Given the description of an element on the screen output the (x, y) to click on. 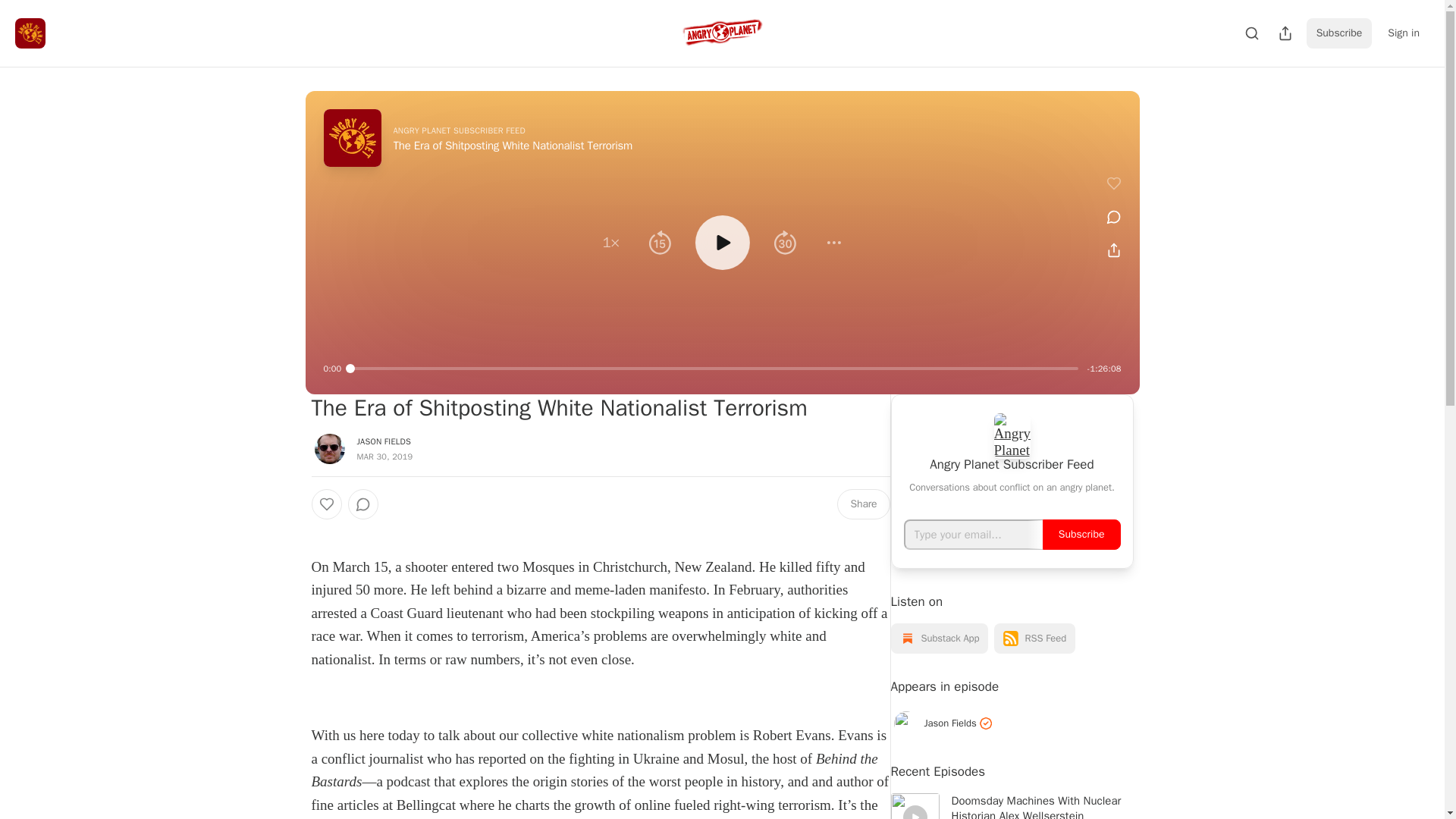
Subscribe (1339, 33)
JASON FIELDS (383, 440)
Share (863, 503)
Sign in (1403, 33)
